Given the description of an element on the screen output the (x, y) to click on. 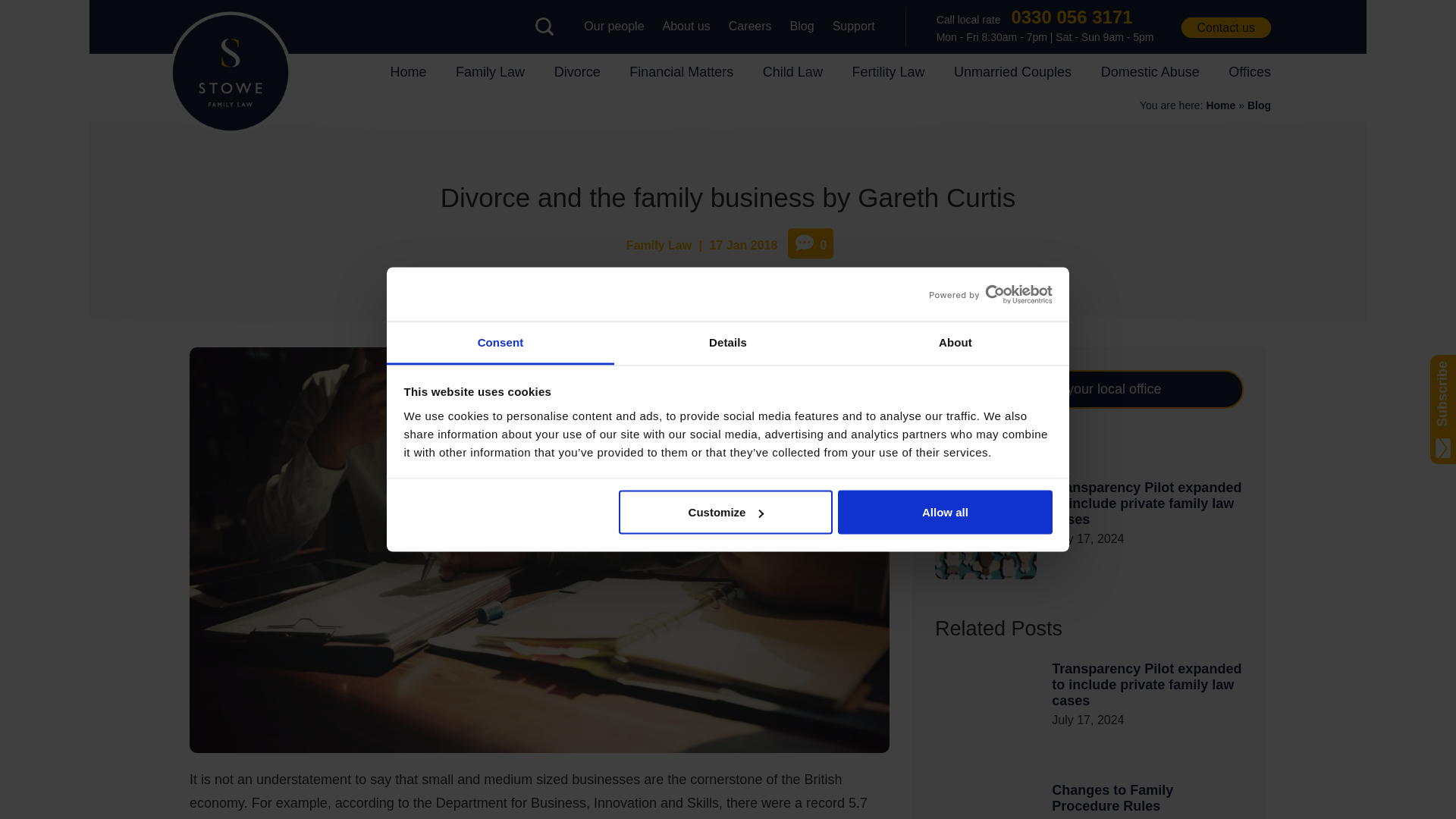
Consent (500, 342)
About (954, 342)
0 (809, 243)
Details (727, 342)
